Given the description of an element on the screen output the (x, y) to click on. 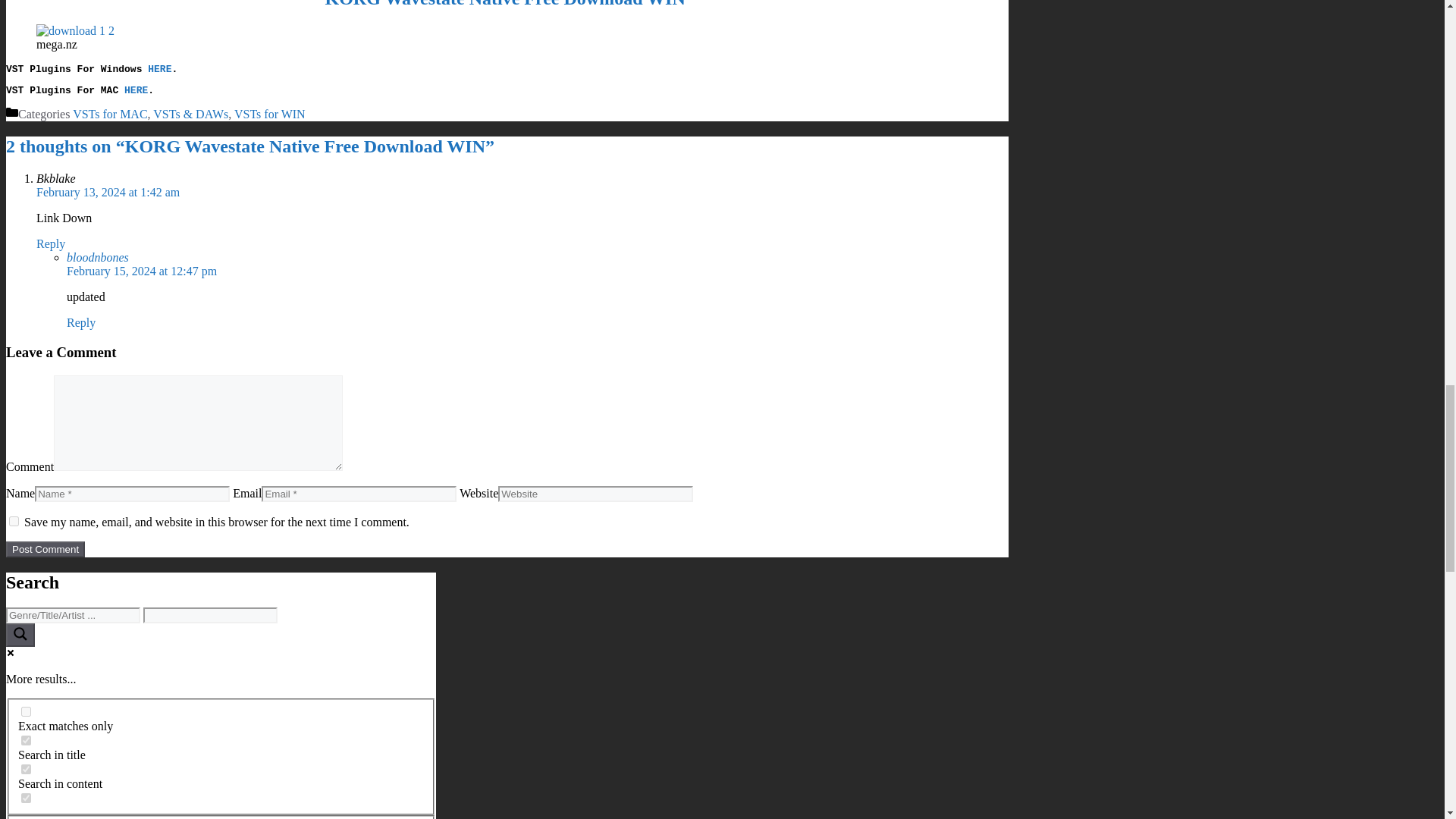
excerpt (25, 798)
exact (220, 756)
yes (25, 711)
Post Comment (13, 521)
content (44, 549)
title (25, 768)
